Given the description of an element on the screen output the (x, y) to click on. 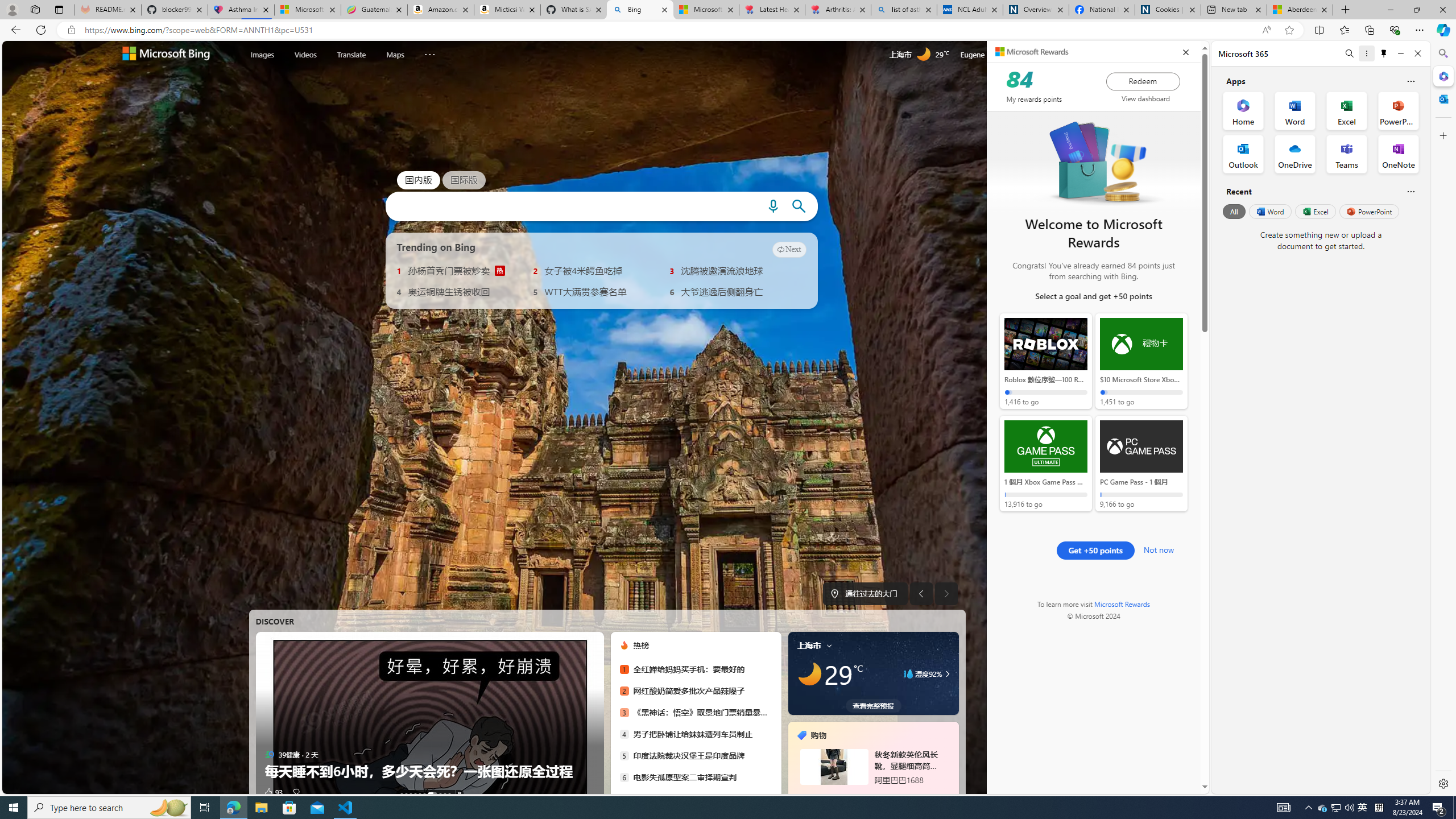
Search using voice (772, 205)
OneNote Office App (1398, 154)
Images (261, 53)
Arthritis: Ask Health Professionals (838, 9)
